Given the description of an element on the screen output the (x, y) to click on. 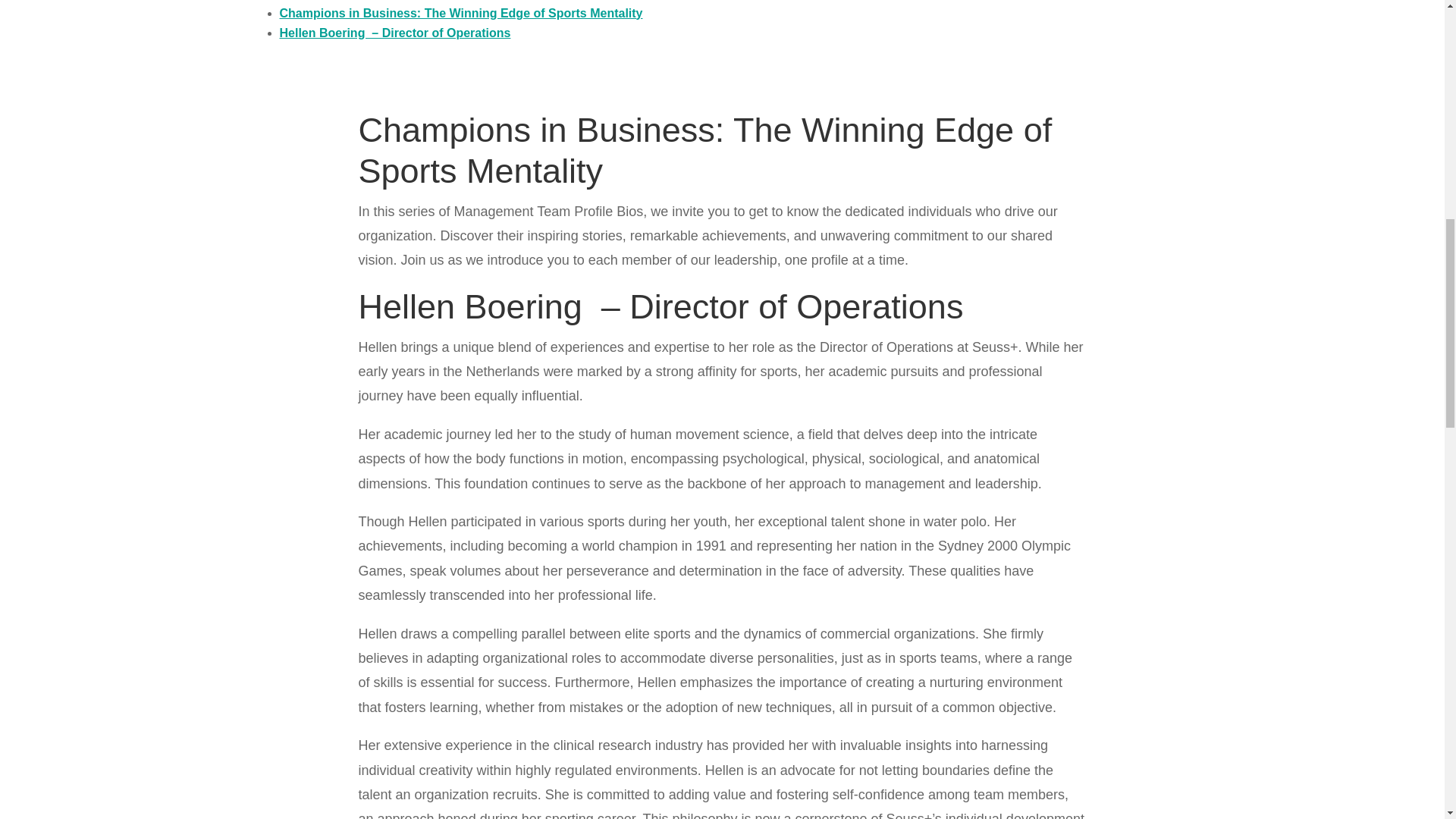
Champions in Business: The Winning Edge of Sports Mentality (460, 12)
